Given the description of an element on the screen output the (x, y) to click on. 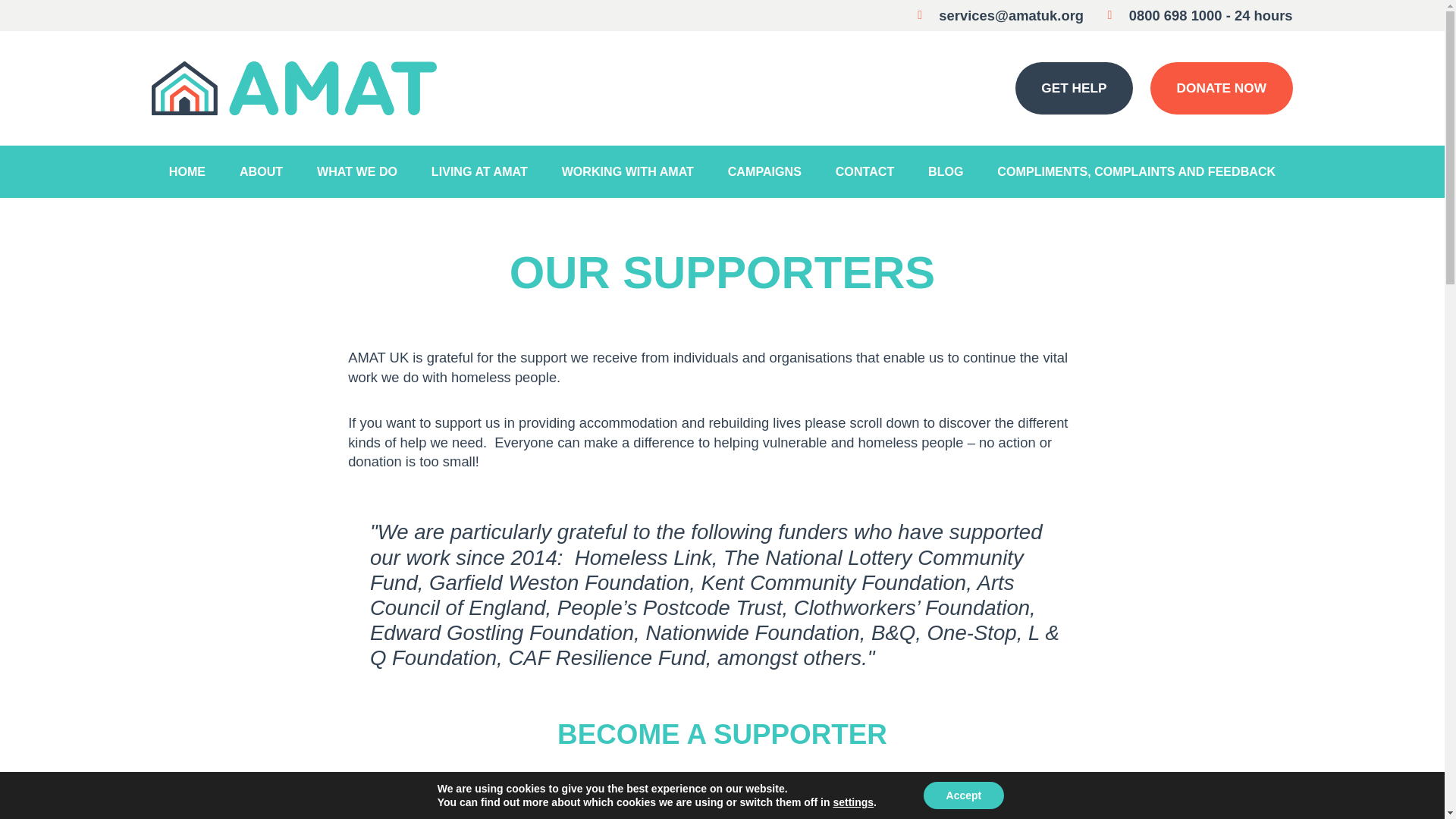
WORKING WITH AMAT (627, 171)
DONATE NOW (1221, 88)
CAMPAIGNS (764, 171)
ABOUT (260, 171)
0800 698 1000 - 24 hours (1194, 15)
HOME (186, 171)
LIVING AT AMAT (478, 171)
CONTACT (864, 171)
BLOG (945, 171)
GET HELP (1073, 88)
WHAT WE DO (356, 171)
COMPLIMENTS, COMPLAINTS AND FEEDBACK (1135, 171)
